Given the description of an element on the screen output the (x, y) to click on. 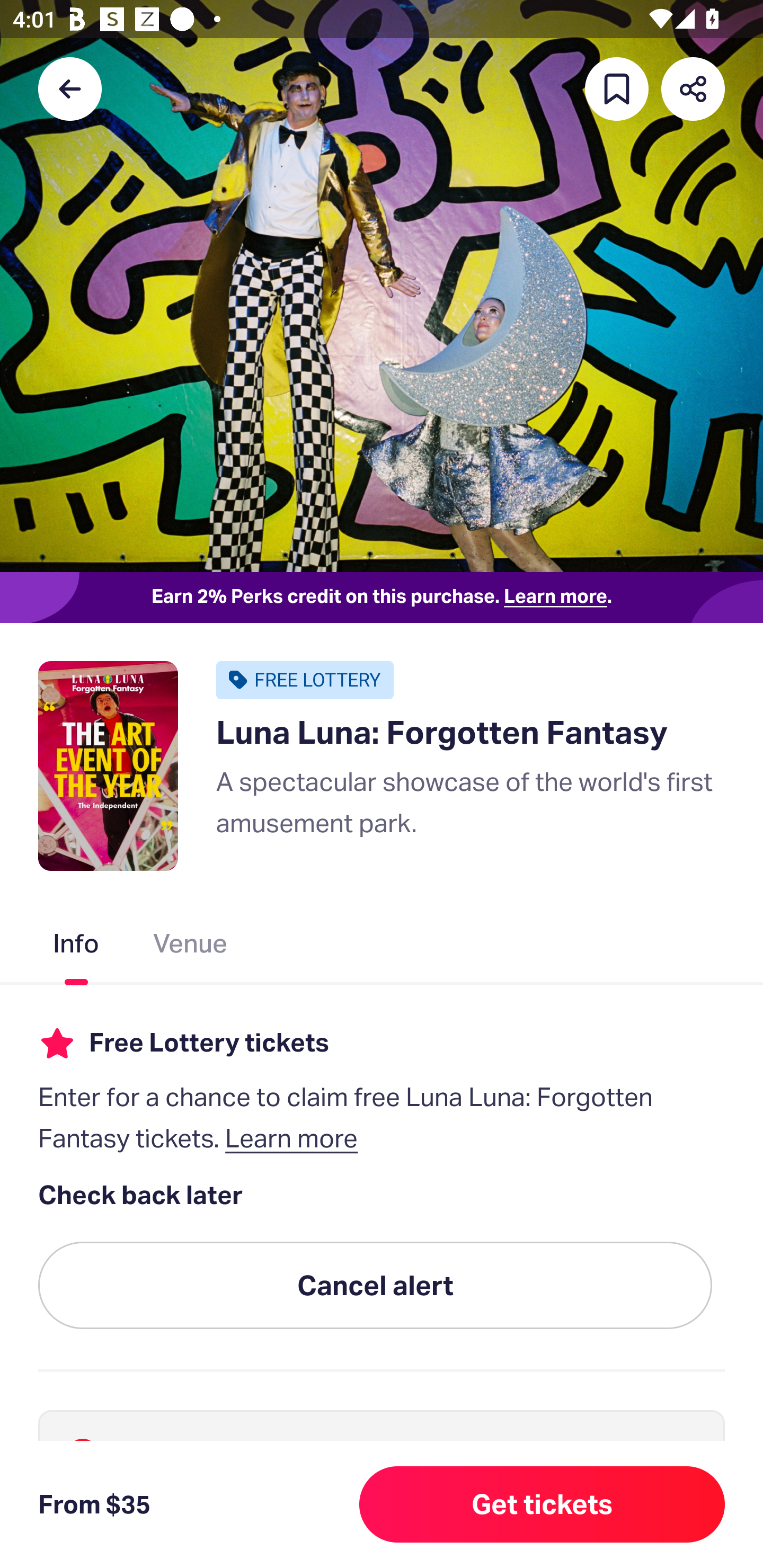
Earn 2% Perks credit on this purchase. Learn more. (381, 597)
Venue (190, 946)
Cancel alert (374, 1286)
Get tickets (541, 1504)
